Given the description of an element on the screen output the (x, y) to click on. 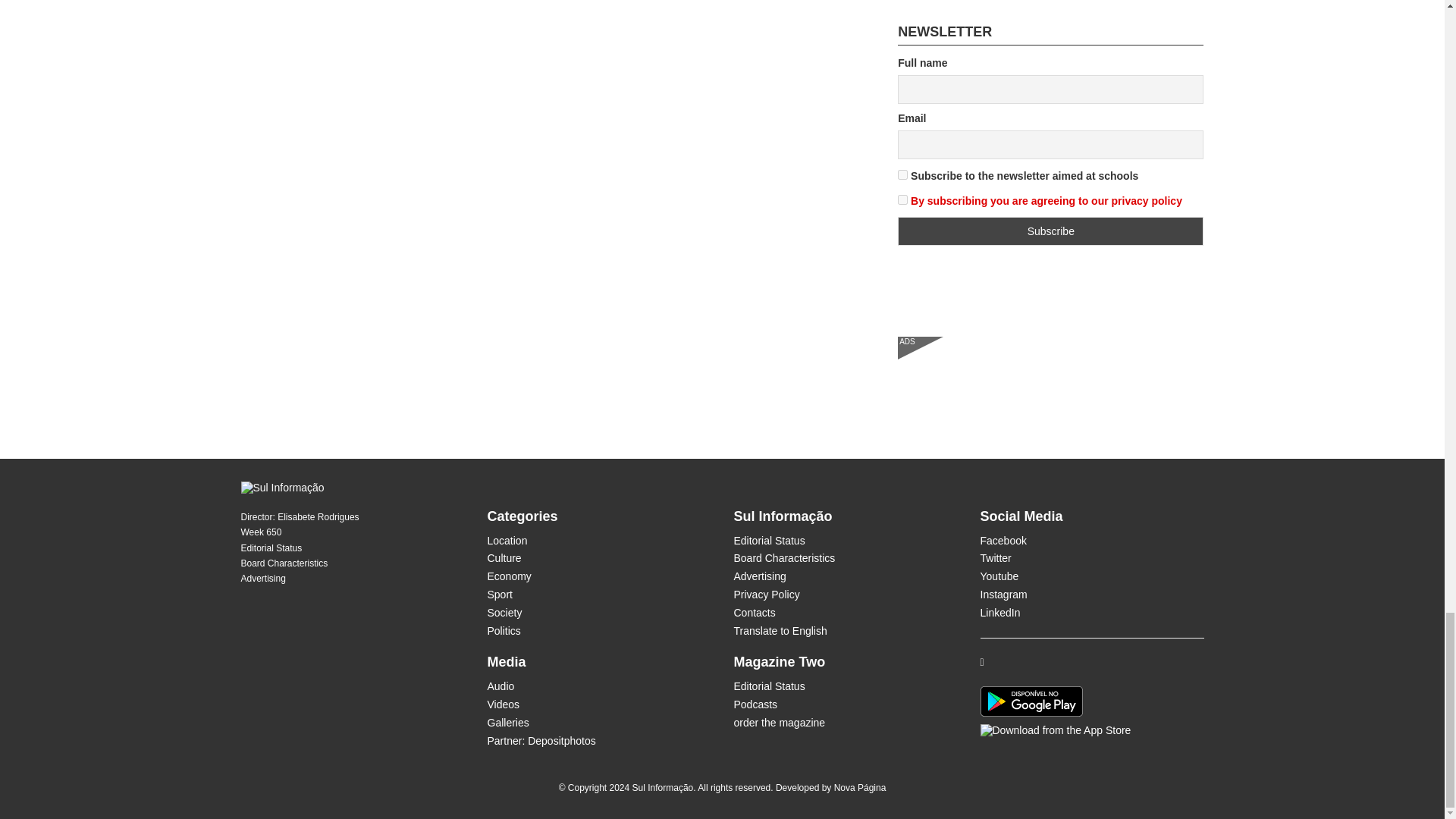
1 (902, 174)
on (902, 199)
Subscribe (1051, 231)
